Given the description of an element on the screen output the (x, y) to click on. 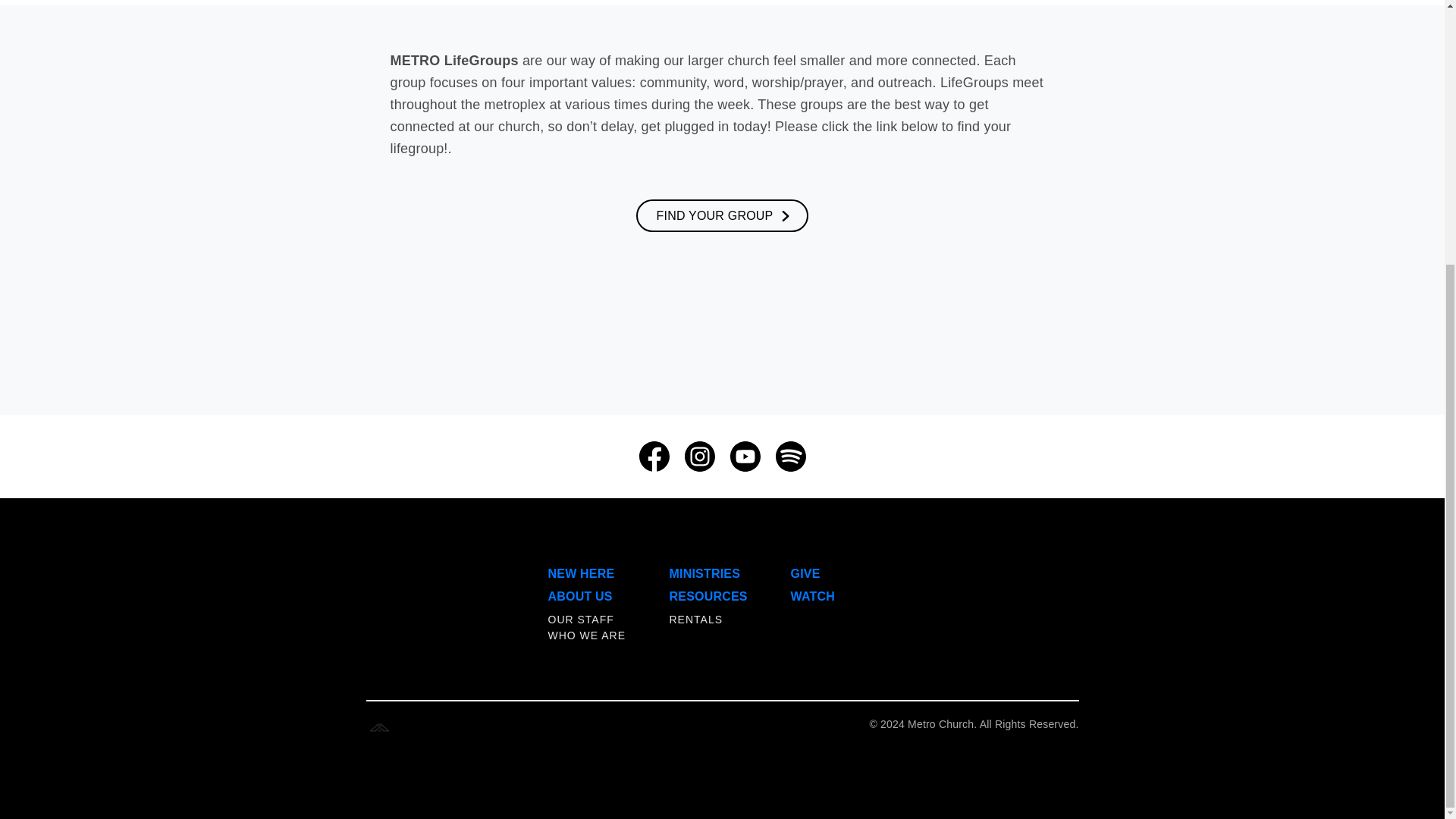
OUR STAFF (579, 619)
WATCH (812, 595)
MINISTRIES (703, 573)
WHO WE ARE (586, 635)
GIVE (804, 573)
FIND YOUR GROUP (722, 215)
RENTALS (695, 619)
NEW HERE (580, 573)
